Given the description of an element on the screen output the (x, y) to click on. 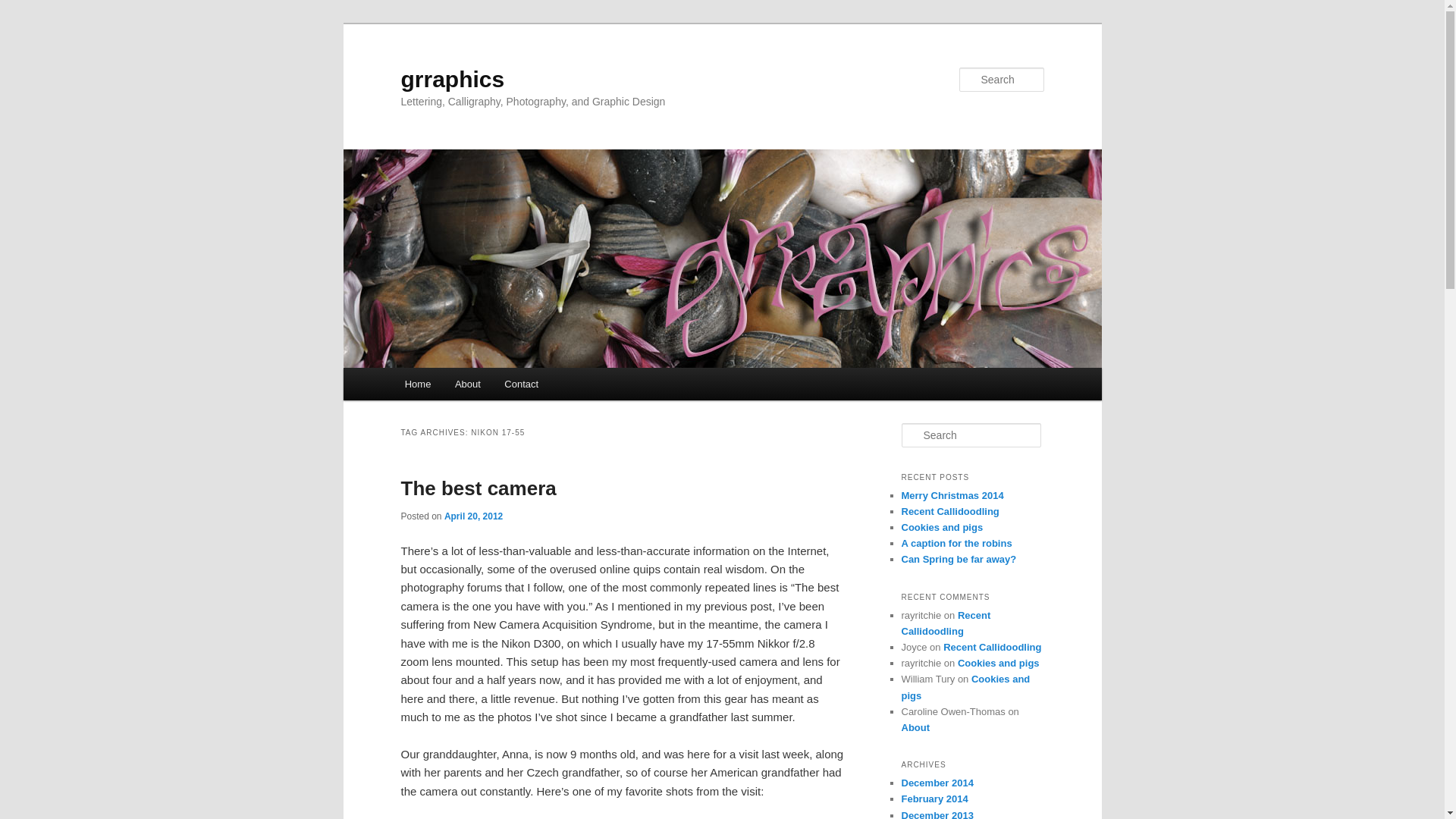
Merry Christmas 2014 (952, 495)
December 2014 (936, 782)
The best camera (478, 487)
Home (417, 383)
grraphics (451, 78)
Recent Callidoodling (992, 646)
Permalink to The best camera (478, 487)
Can Spring be far away? (958, 559)
December 2013 (936, 814)
Cookies and pigs (965, 687)
Recent Callidoodling (945, 623)
About (915, 727)
6:40 pm (473, 516)
Skip to secondary content (479, 386)
February 2014 (934, 798)
